Given the description of an element on the screen output the (x, y) to click on. 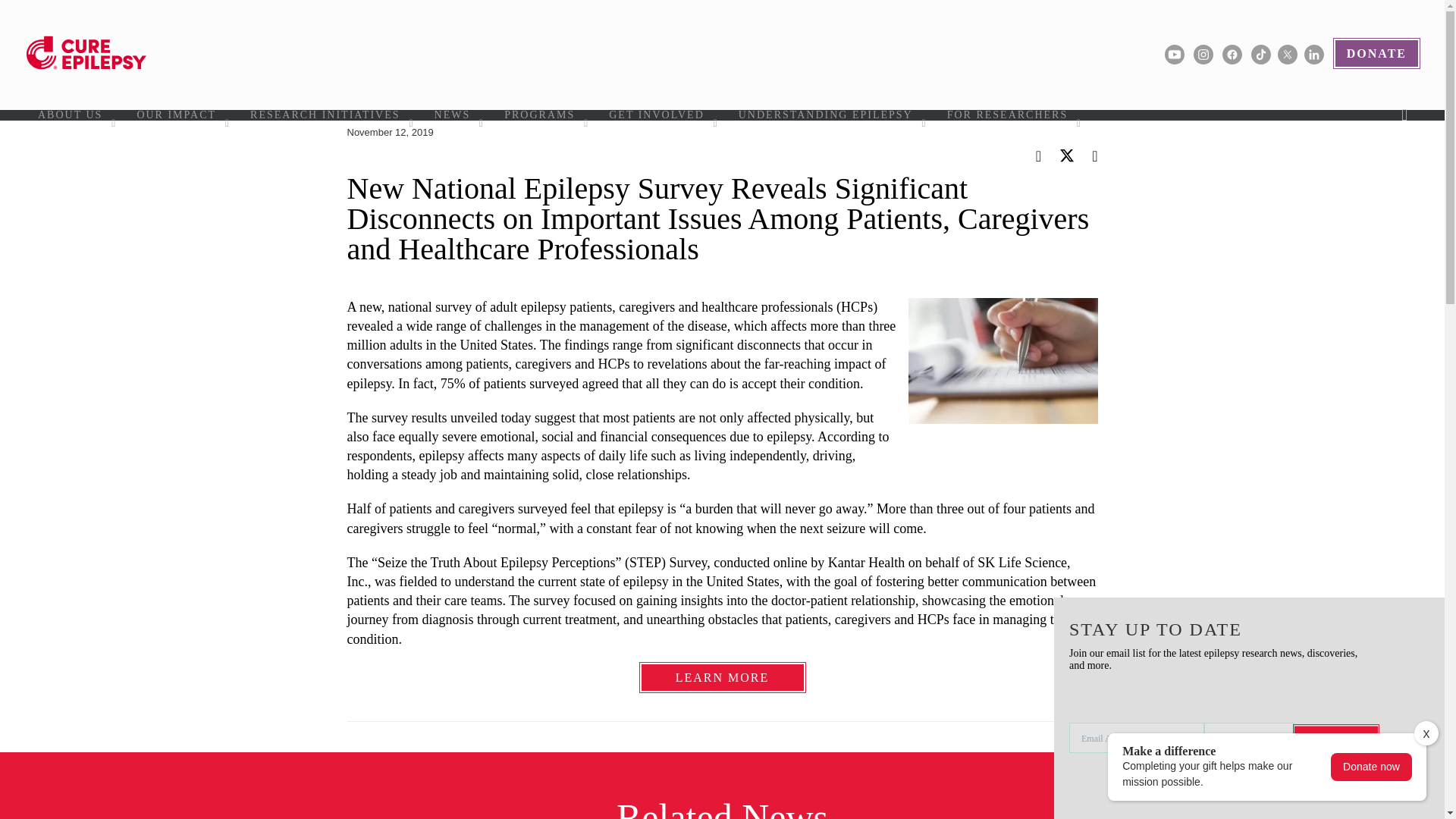
Click to share on Twitter (1068, 157)
OUR IMPACT (181, 114)
NEWS (458, 114)
RESEARCH INITIATIVES (330, 114)
SUBSCRIBE NOW (1335, 738)
PROGRAMS (544, 114)
ABOUT US (75, 114)
DONATE (1376, 53)
